Given the description of an element on the screen output the (x, y) to click on. 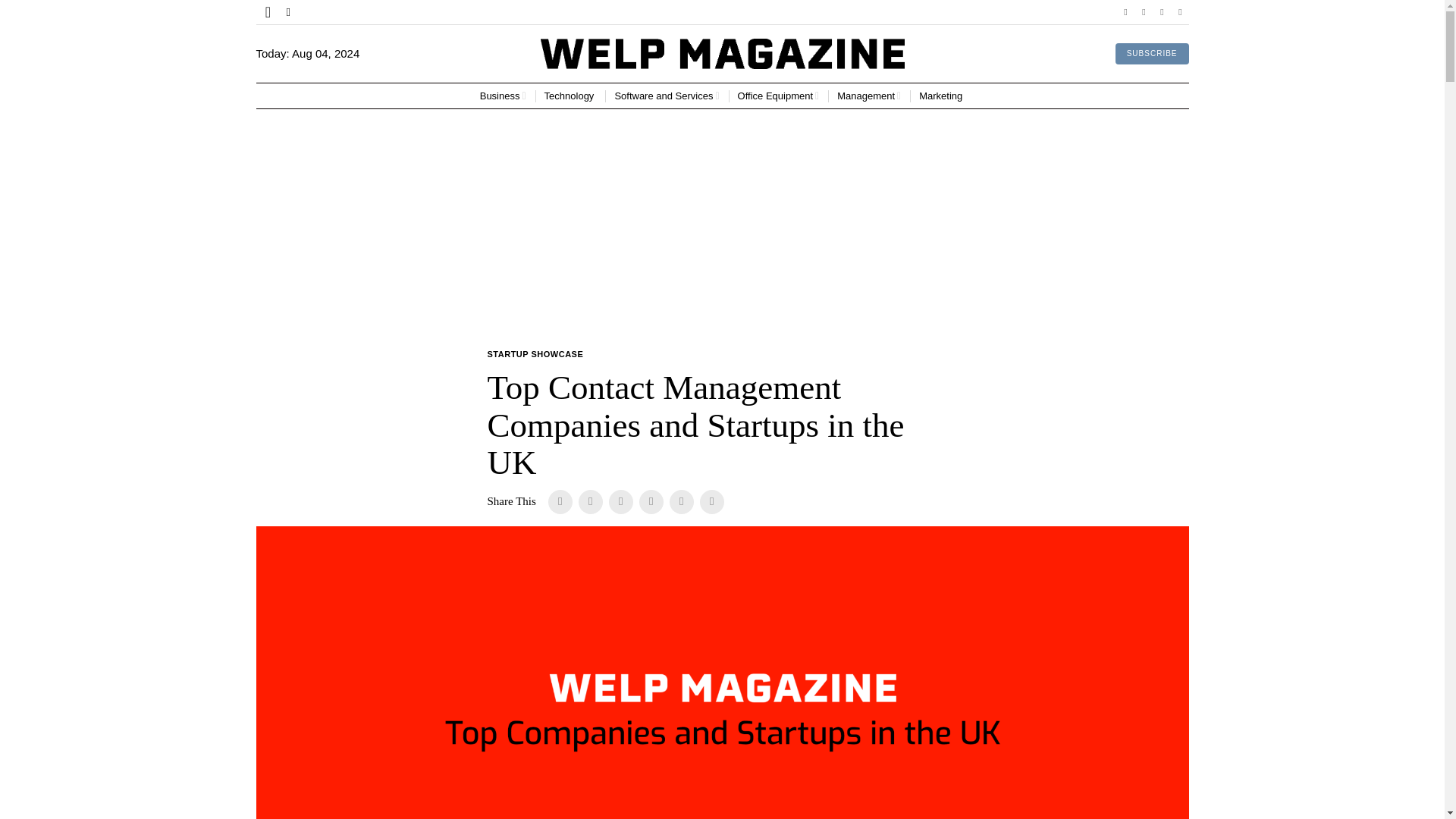
Office Equipment (778, 95)
Business (502, 95)
Management (869, 95)
Marketing (942, 95)
Technology (570, 95)
SUBSCRIBE (1152, 53)
STARTUP SHOWCASE (534, 354)
Software and Services (666, 95)
